Given the description of an element on the screen output the (x, y) to click on. 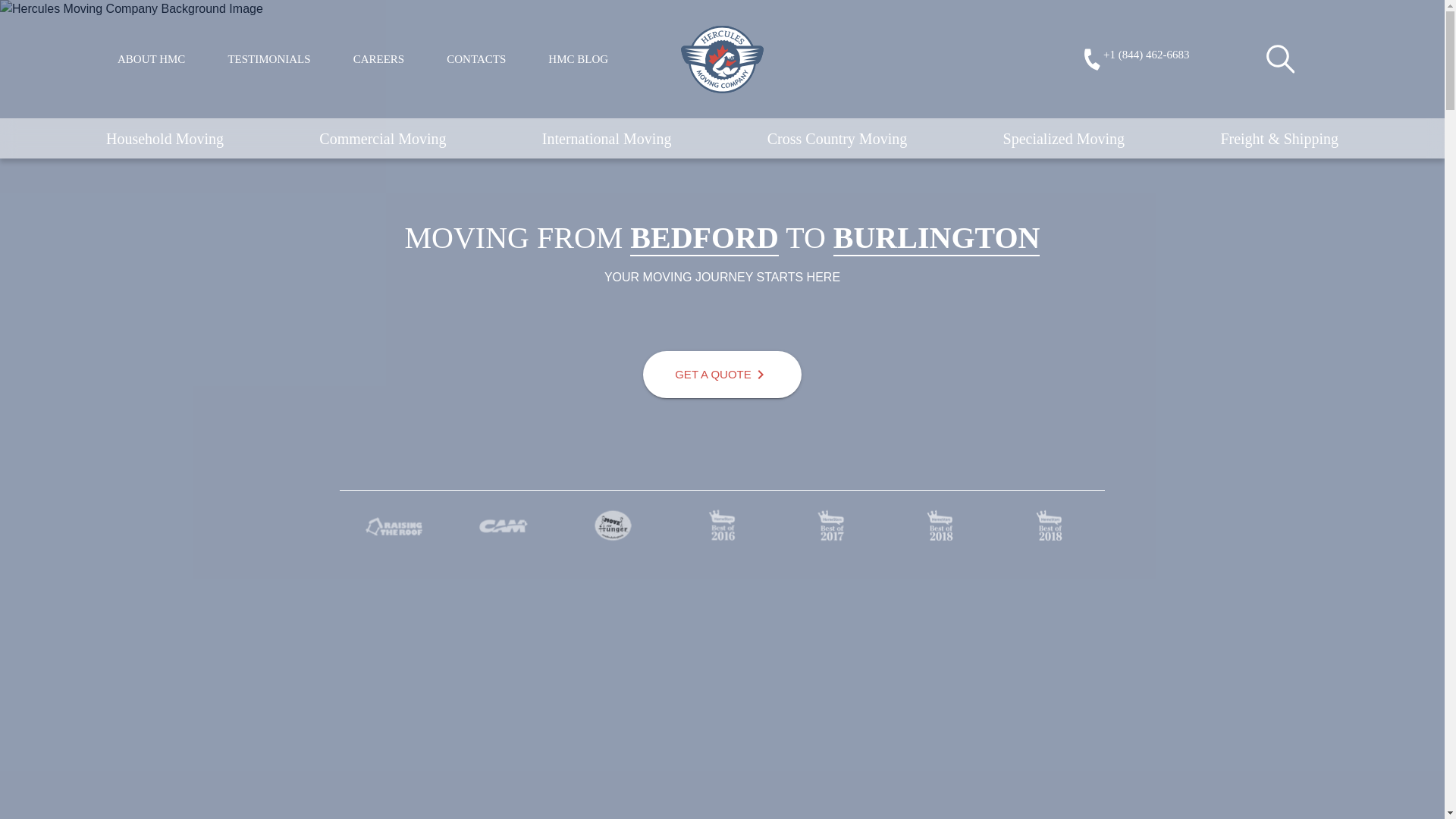
ABOUT HMC (150, 59)
TESTIMONIALS (268, 59)
HMC BLOG (578, 59)
CAREERS (378, 59)
Household Moving (165, 137)
CONTACTS (475, 59)
